Given the description of an element on the screen output the (x, y) to click on. 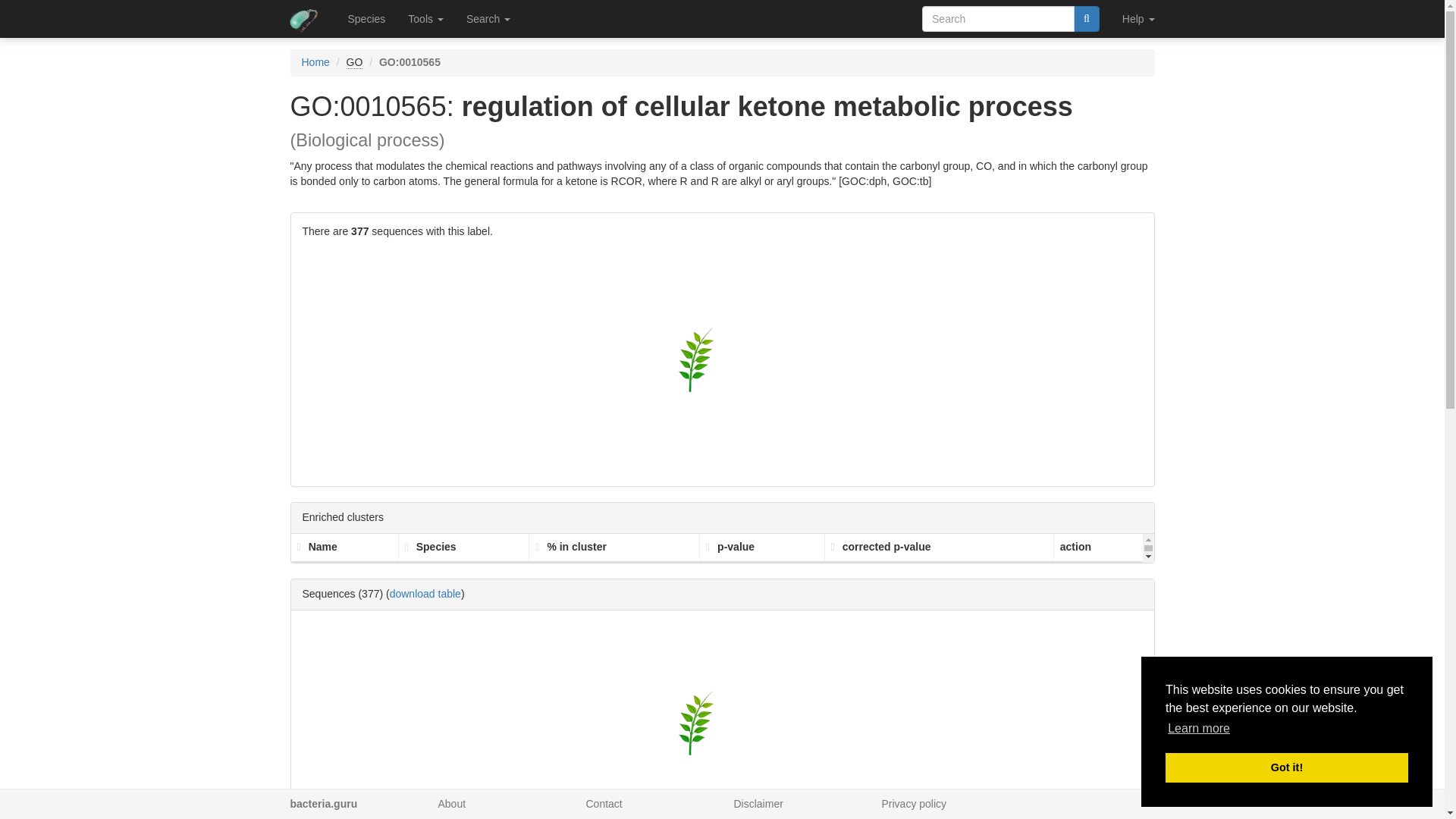
Click to show help (354, 62)
Got it! (1286, 767)
bacteria.guru (322, 803)
Help (1138, 18)
Disclaimer (758, 803)
Contact (603, 803)
Home (315, 61)
download table (425, 593)
Species (366, 18)
About (451, 803)
Privacy policy (913, 803)
Learn more (1198, 728)
Tools (425, 18)
Search (487, 18)
Search (1086, 18)
